Given the description of an element on the screen output the (x, y) to click on. 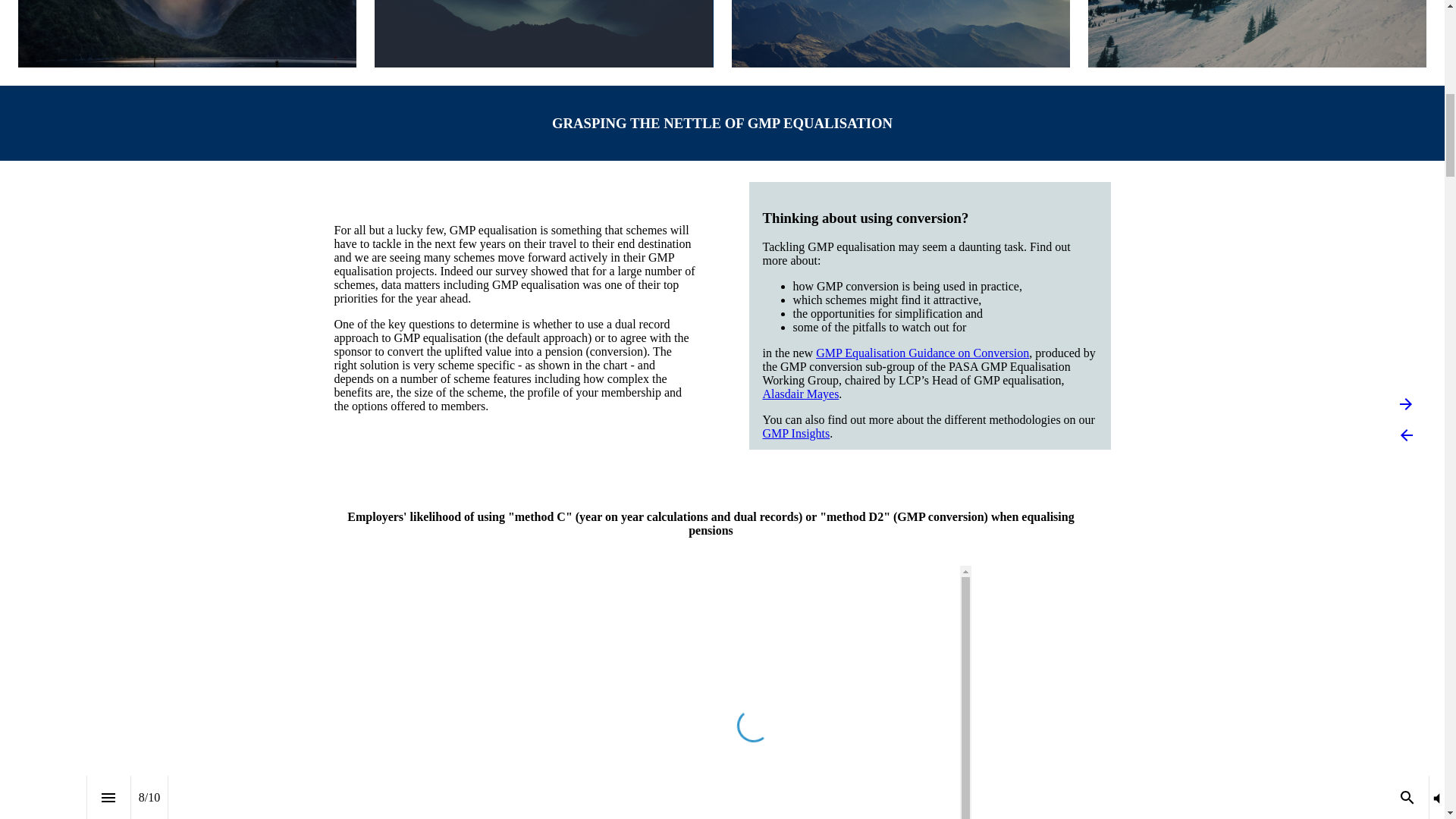
JUMP TO SECTION (900, 22)
JUMP TO SECTION (187, 21)
Alasdair Mayes (801, 393)
GMP Equalisation Guidance on Conversion (922, 352)
JUMP TO SECTION (1257, 22)
JUMP TO SECTION (543, 22)
GMP Insights (795, 432)
